Given the description of an element on the screen output the (x, y) to click on. 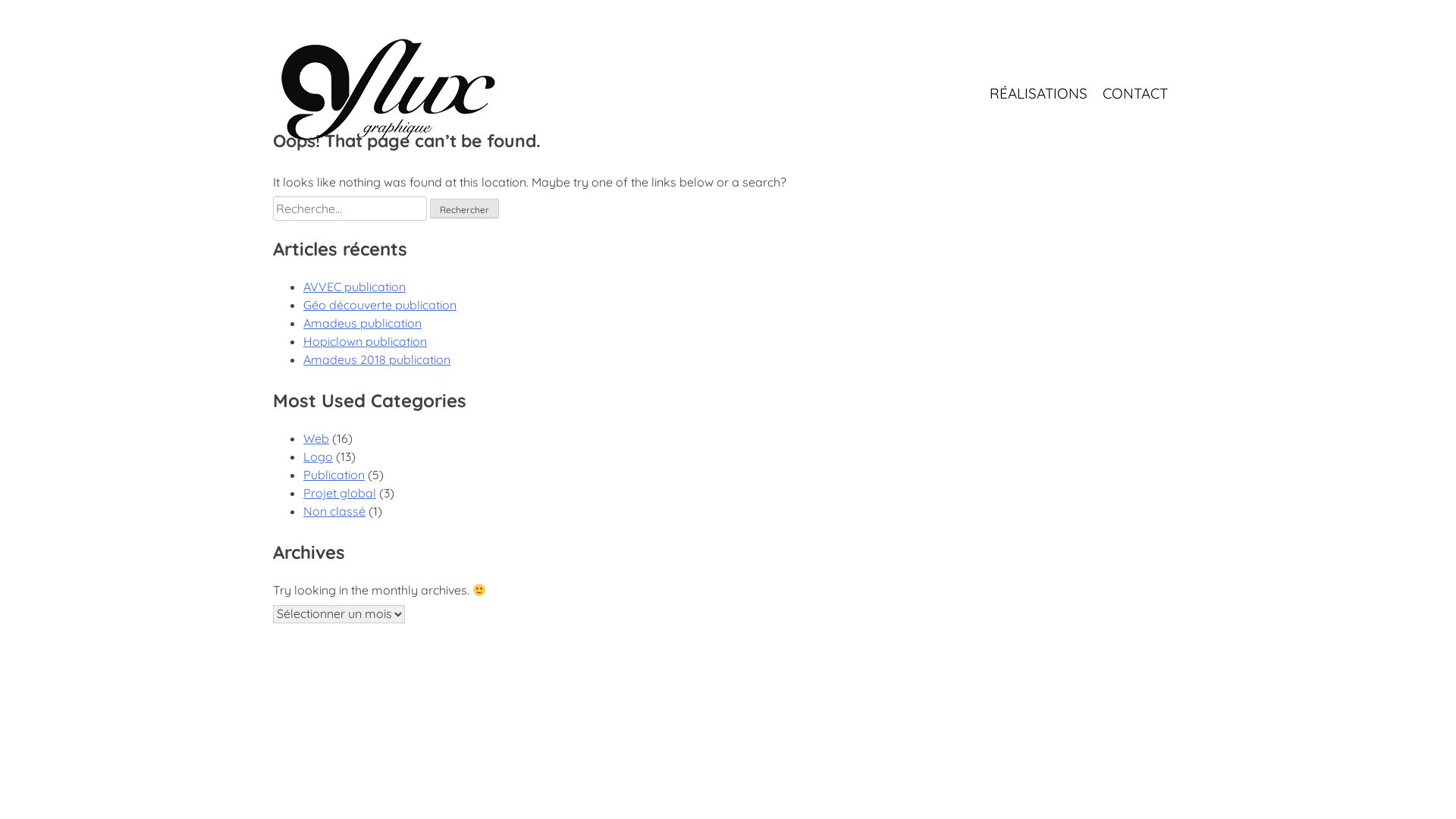
CONTACT Element type: text (1134, 93)
Rechercher Element type: text (463, 208)
Web Element type: text (316, 437)
Skip to content Element type: text (273, 0)
Projet global Element type: text (339, 492)
AVVEC publication Element type: text (354, 286)
Amadeus 2018 publication Element type: text (376, 359)
Amadeus publication Element type: text (362, 322)
Hopiclown publication Element type: text (364, 340)
Publication Element type: text (333, 474)
Logo Element type: text (317, 456)
